Given the description of an element on the screen output the (x, y) to click on. 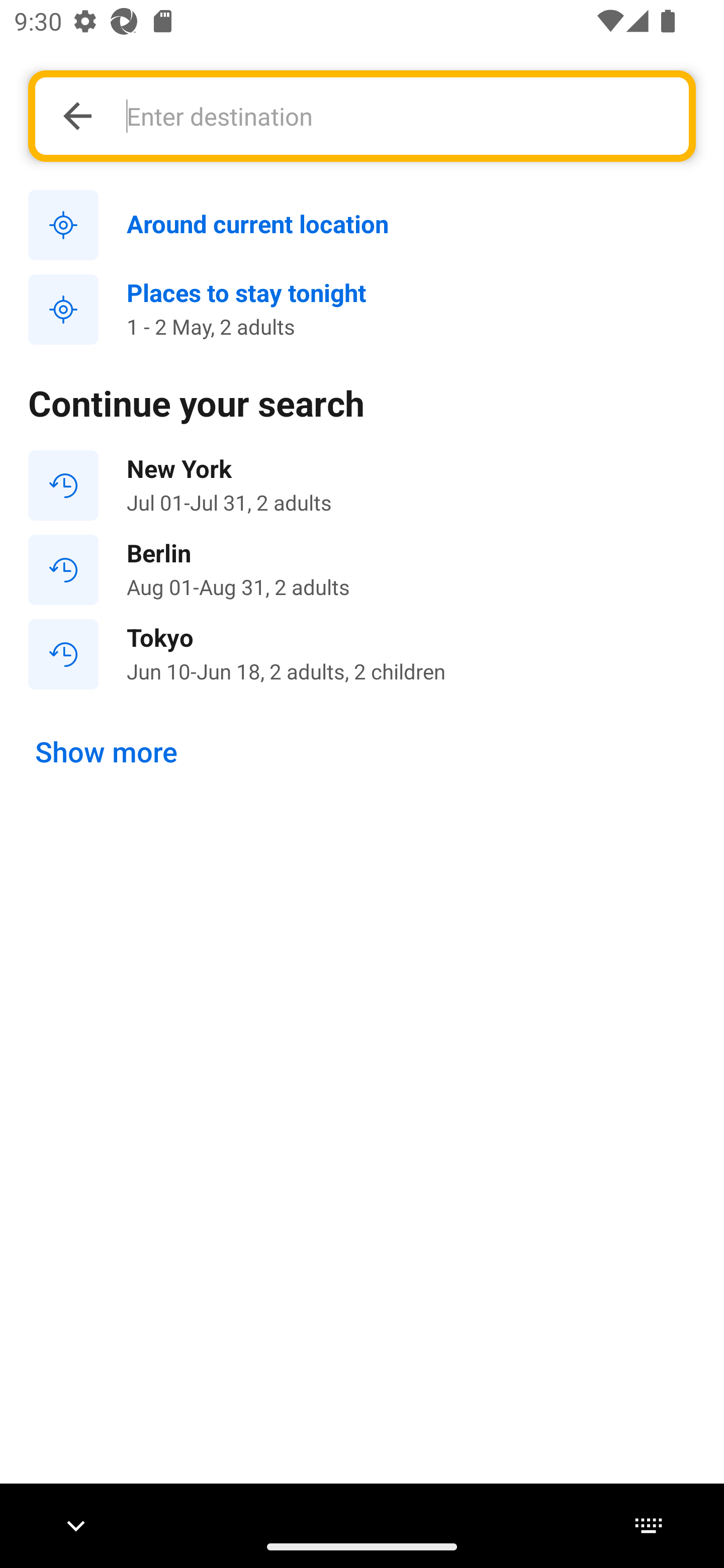
Enter destination (396, 115)
Around current location (362, 225)
Places to stay tonight 1 - 2 May, 2 adults (362, 309)
New York Jul 01-Jul 31, 2 adults  (362, 485)
Berlin Aug 01-Aug 31, 2 adults  (362, 569)
Tokyo Jun 10-Jun 18, 2 adults, 2 children (362, 653)
Show more (106, 752)
